Given the description of an element on the screen output the (x, y) to click on. 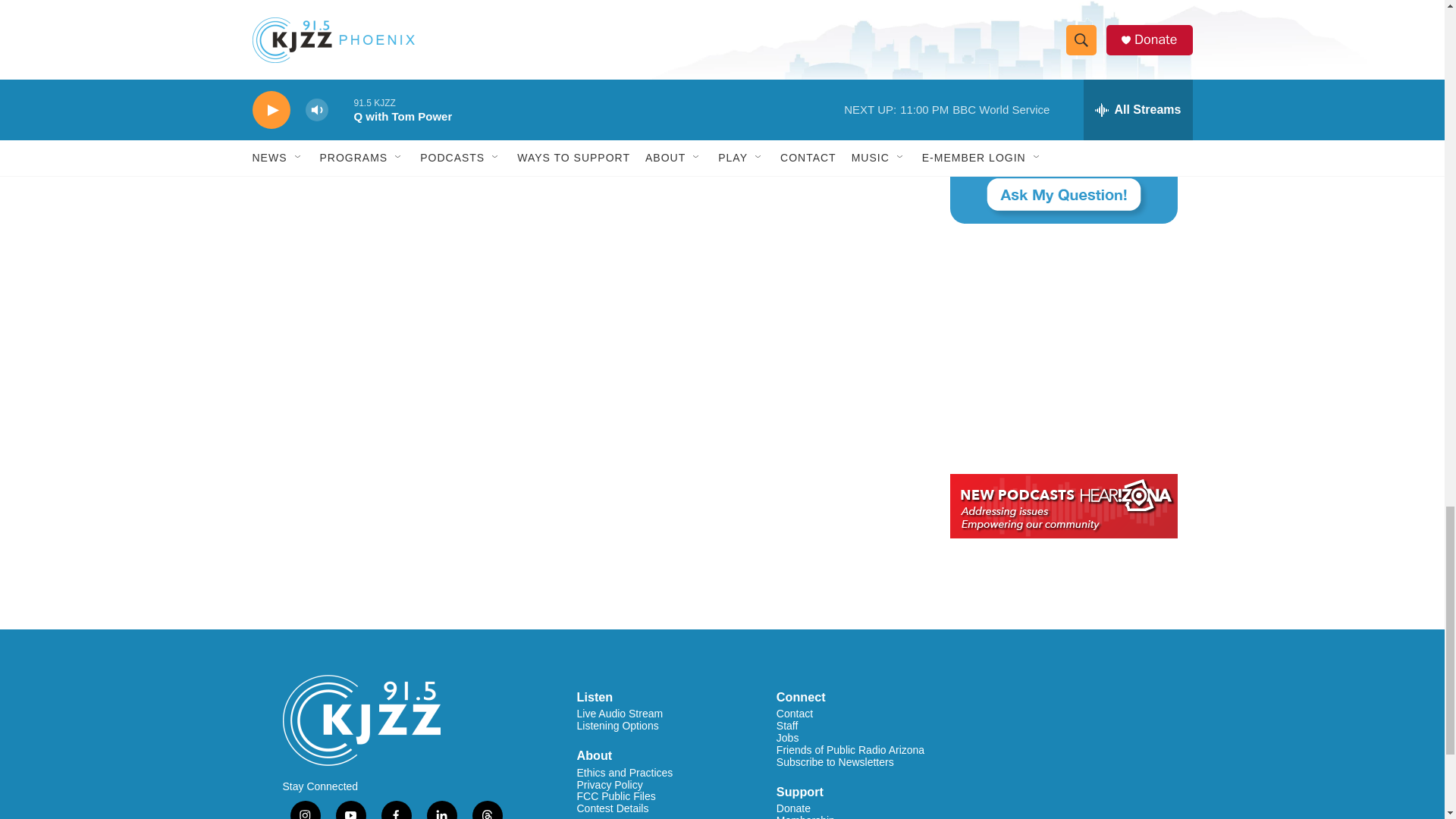
Spot 127 web site (1062, 2)
3rd party ad content (1062, 348)
